Given the description of an element on the screen output the (x, y) to click on. 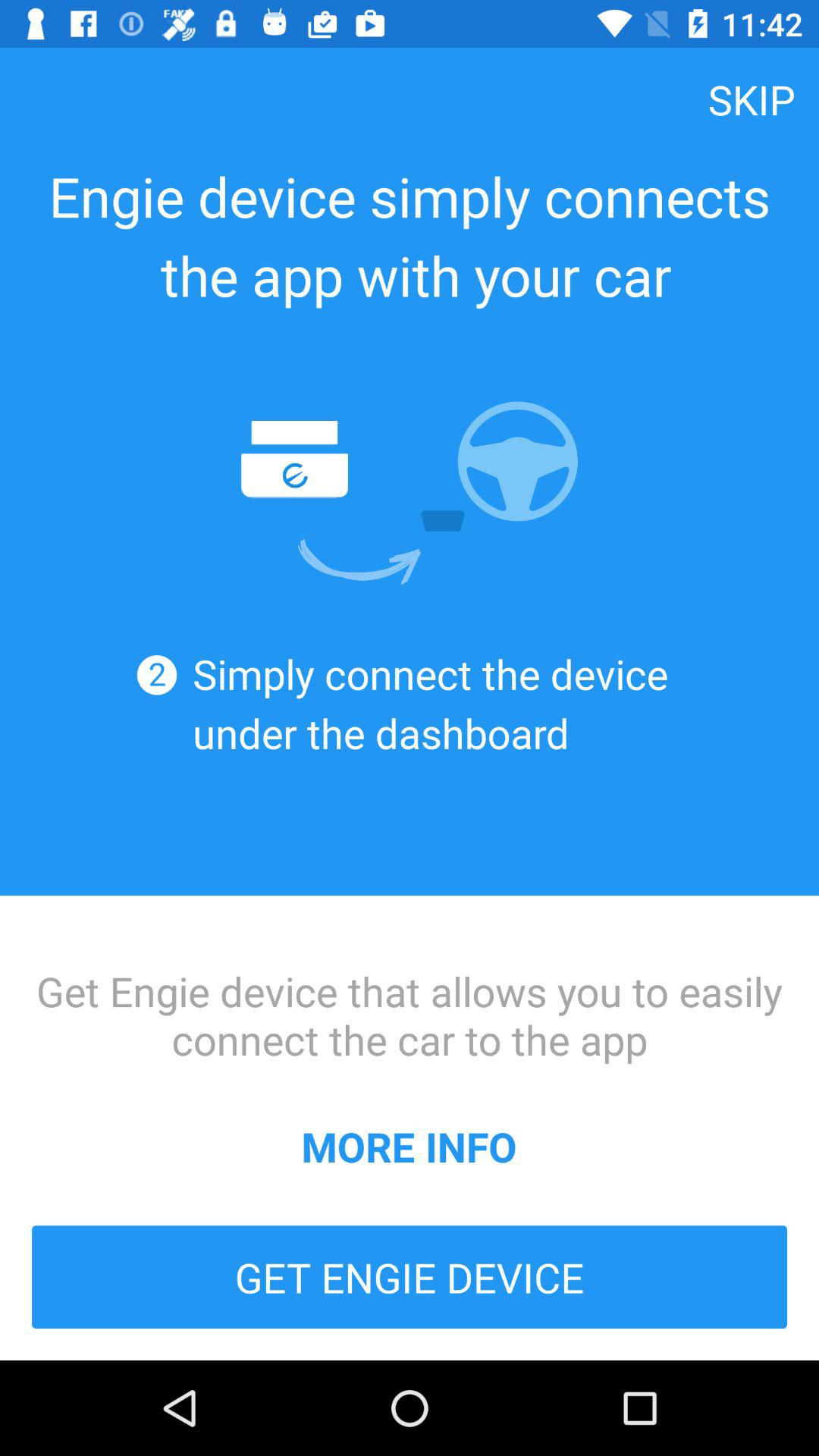
tap skip at the top right corner (751, 98)
